Given the description of an element on the screen output the (x, y) to click on. 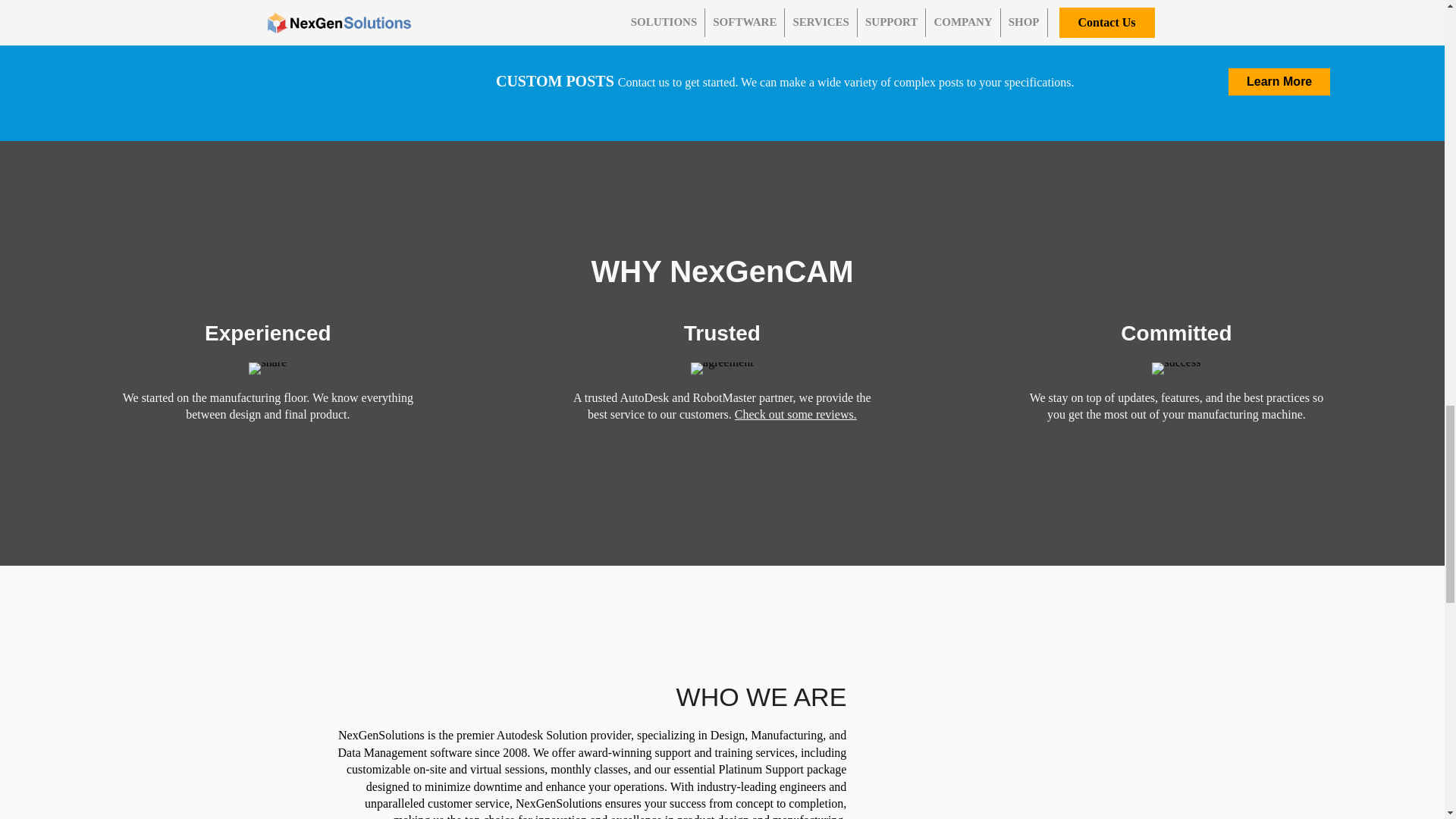
share (267, 368)
success (1175, 368)
agreement (722, 368)
